Given the description of an element on the screen output the (x, y) to click on. 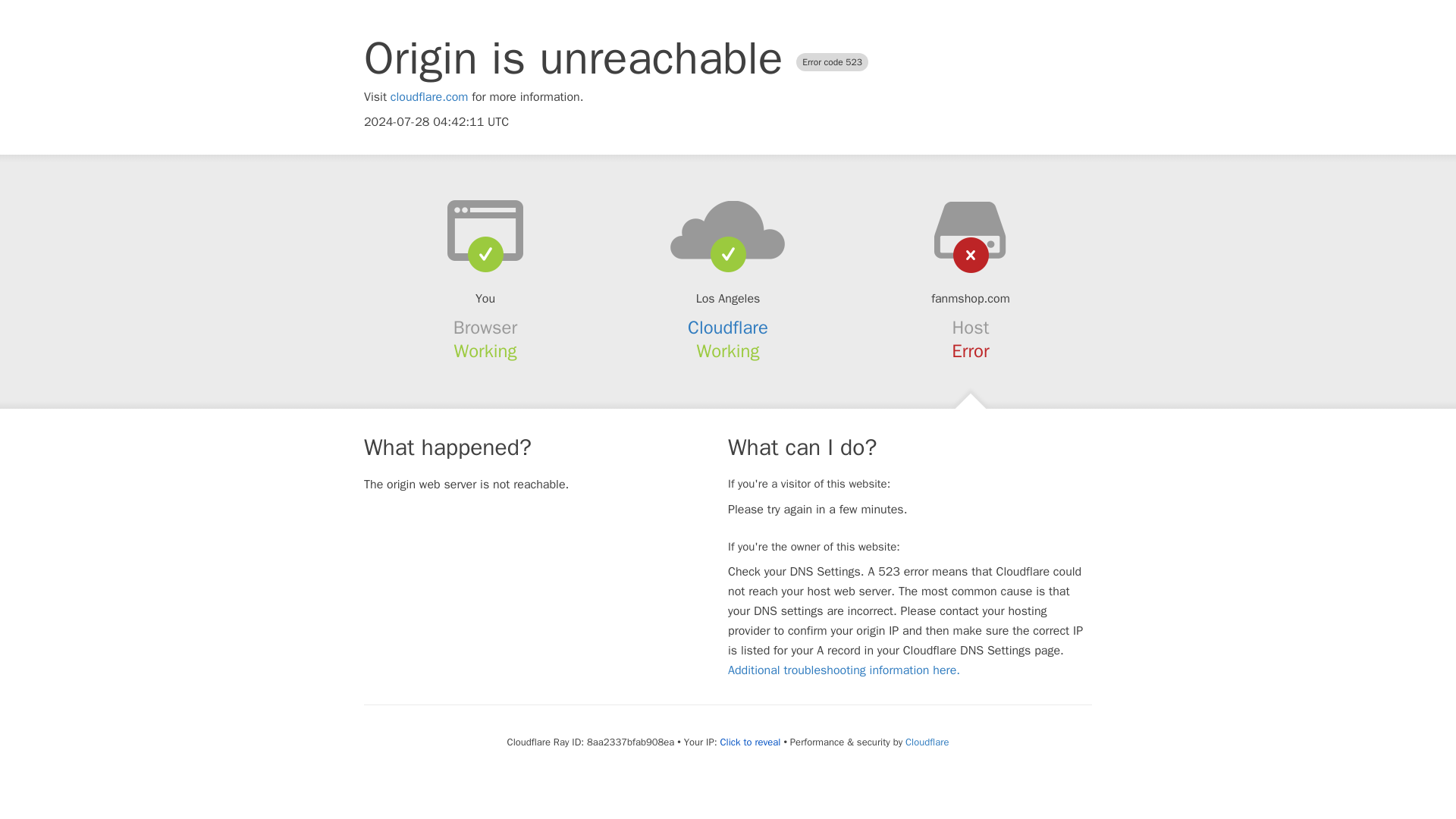
Cloudflare (927, 741)
cloudflare.com (429, 96)
Cloudflare (727, 327)
Click to reveal (750, 742)
Additional troubleshooting information here. (843, 670)
